Given the description of an element on the screen output the (x, y) to click on. 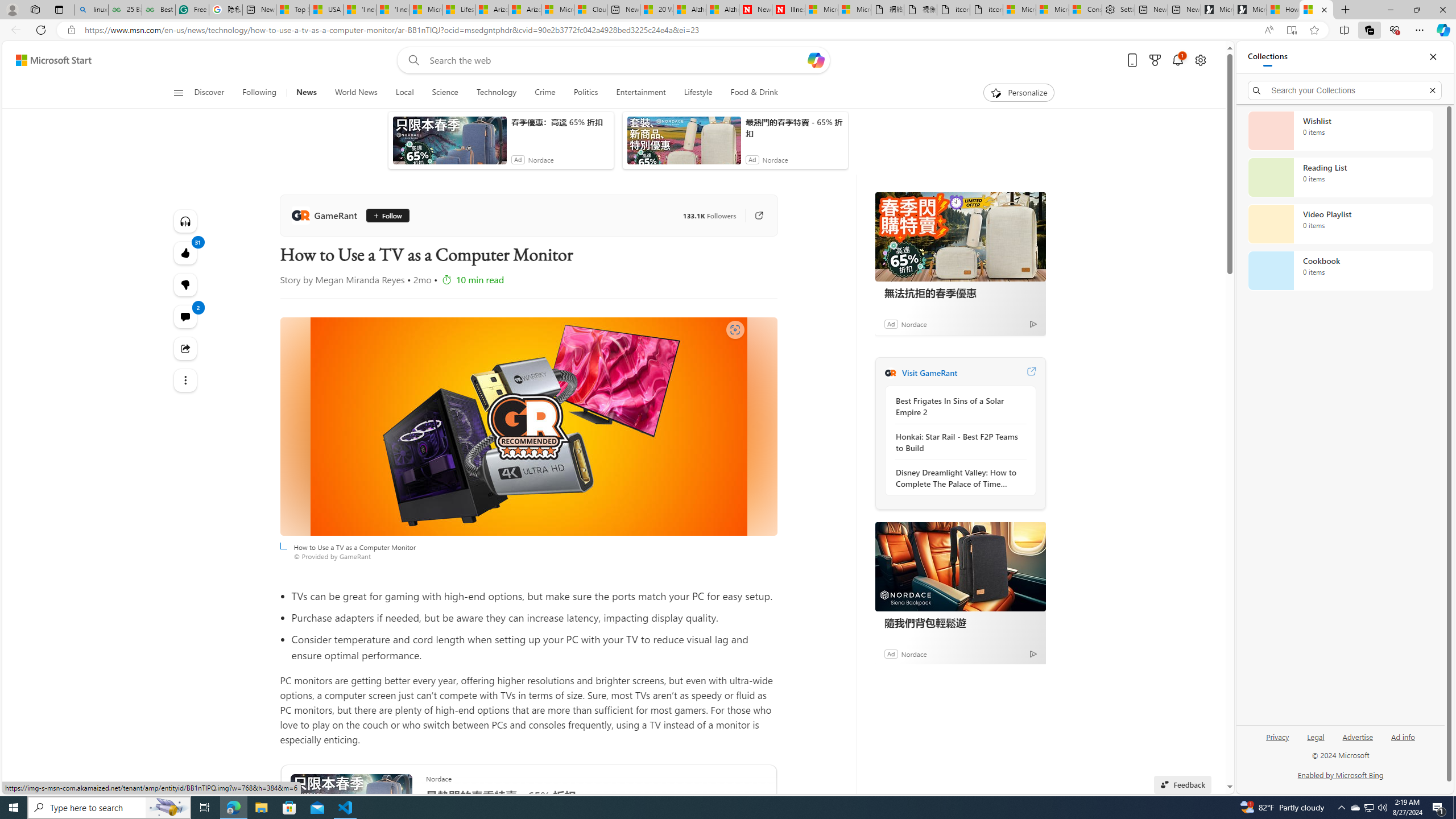
USA TODAY - MSN (325, 9)
World News (355, 92)
Discover (208, 92)
Crime (545, 92)
Nordace (914, 653)
Following (259, 92)
20 Ways to Boost Your Protein Intake at Every Meal (656, 9)
Advertise (1357, 736)
Class: button-glyph (178, 92)
